Given the description of an element on the screen output the (x, y) to click on. 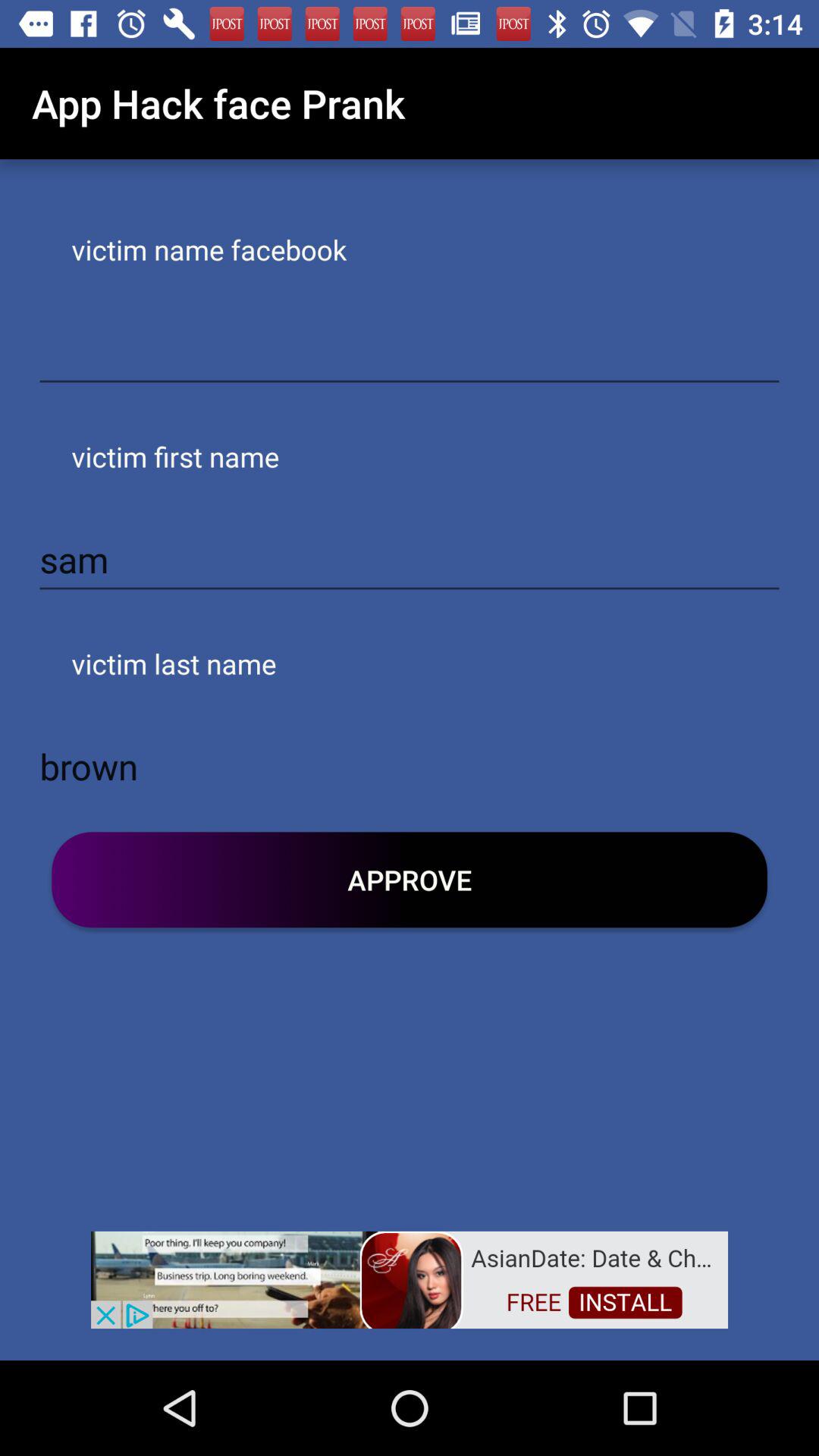
advertisement link (409, 1278)
